Given the description of an element on the screen output the (x, y) to click on. 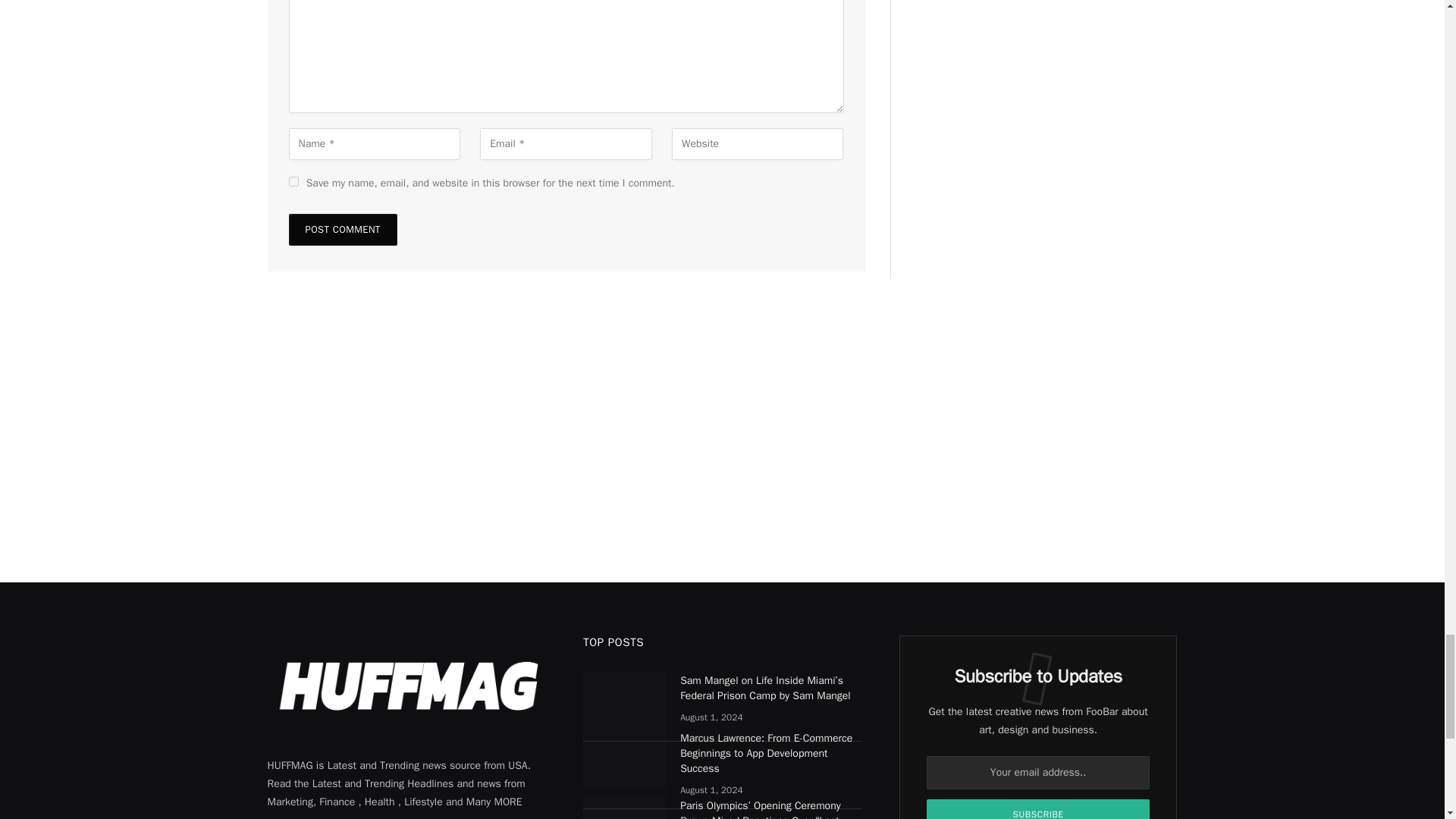
yes (293, 181)
Post Comment (342, 229)
Subscribe (1037, 809)
